Given the description of an element on the screen output the (x, y) to click on. 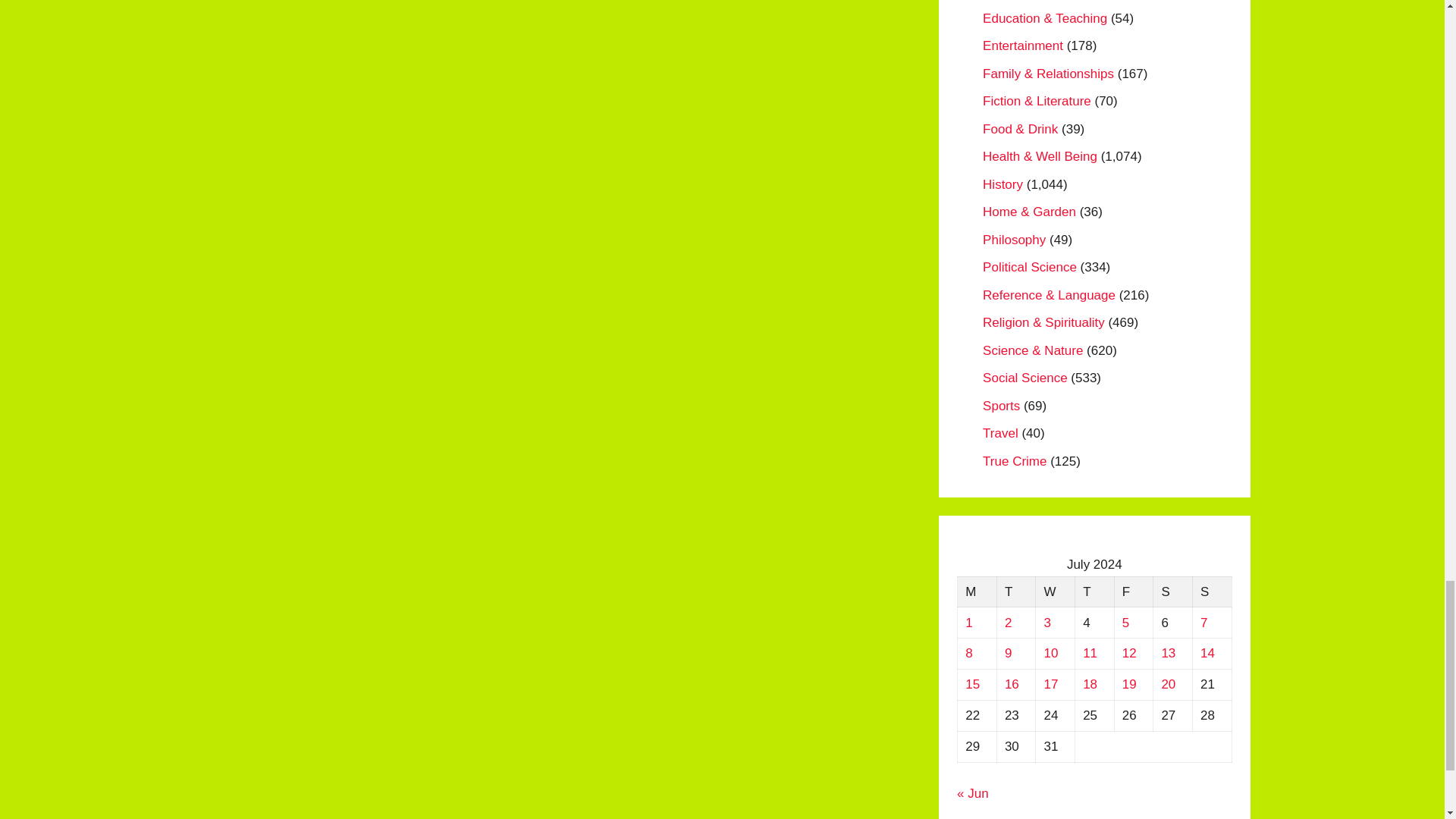
Monday (977, 591)
Wednesday (1055, 591)
Tuesday (1015, 591)
Thursday (1093, 591)
Friday (1133, 591)
Saturday (1172, 591)
Sunday (1211, 591)
